Given the description of an element on the screen output the (x, y) to click on. 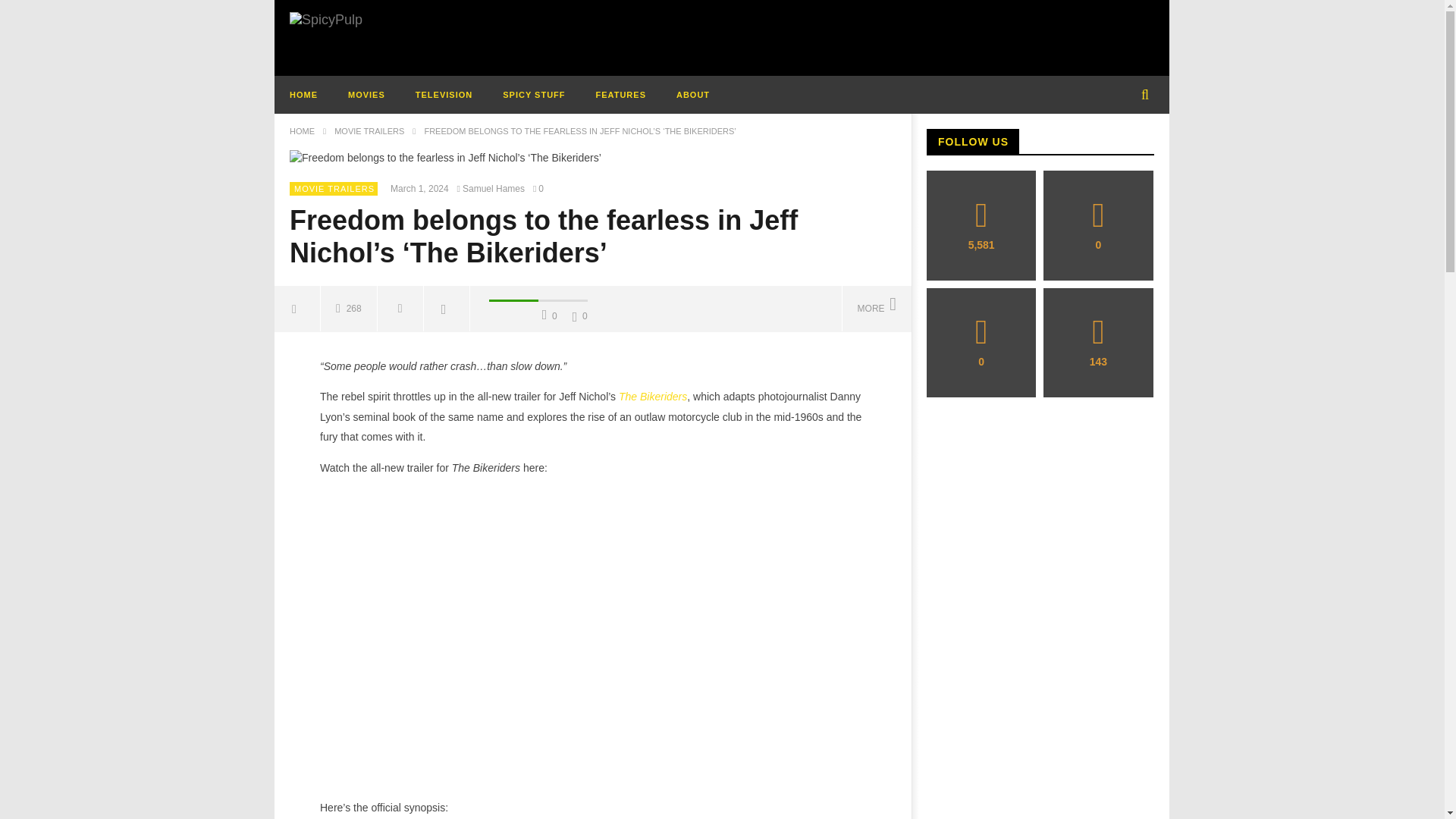
HOME (304, 94)
MOVIES (366, 94)
SpicyPulp (325, 19)
TELEVISION (443, 94)
